Given the description of an element on the screen output the (x, y) to click on. 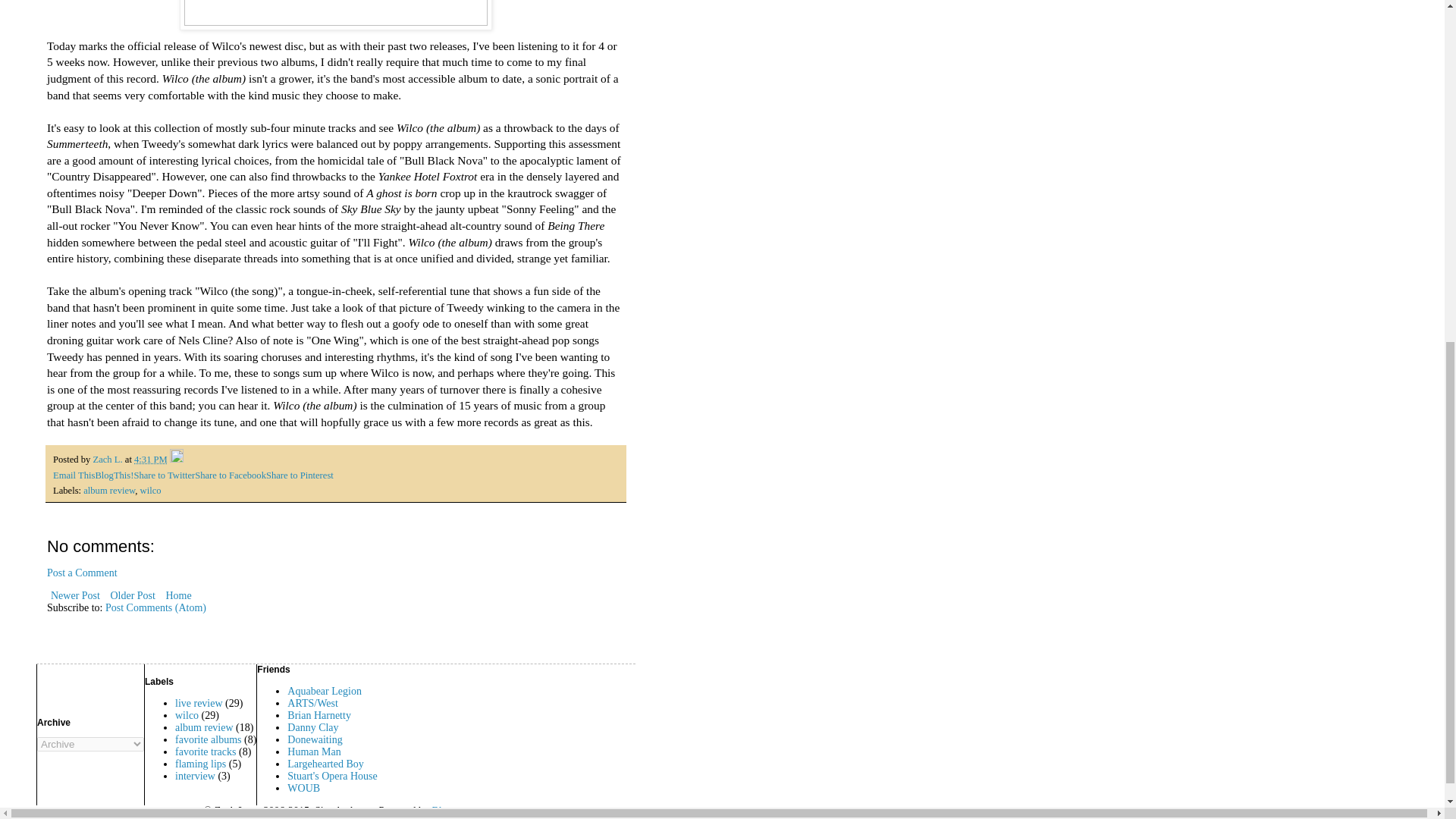
Share to Pinterest (299, 474)
Share to Facebook (230, 474)
Zach L. (108, 459)
Aquabear Legion (323, 690)
flaming lips (199, 763)
wilco (186, 715)
4:31 PM (150, 459)
Email This (73, 474)
permanent link (150, 459)
Post a Comment (81, 572)
